Given the description of an element on the screen output the (x, y) to click on. 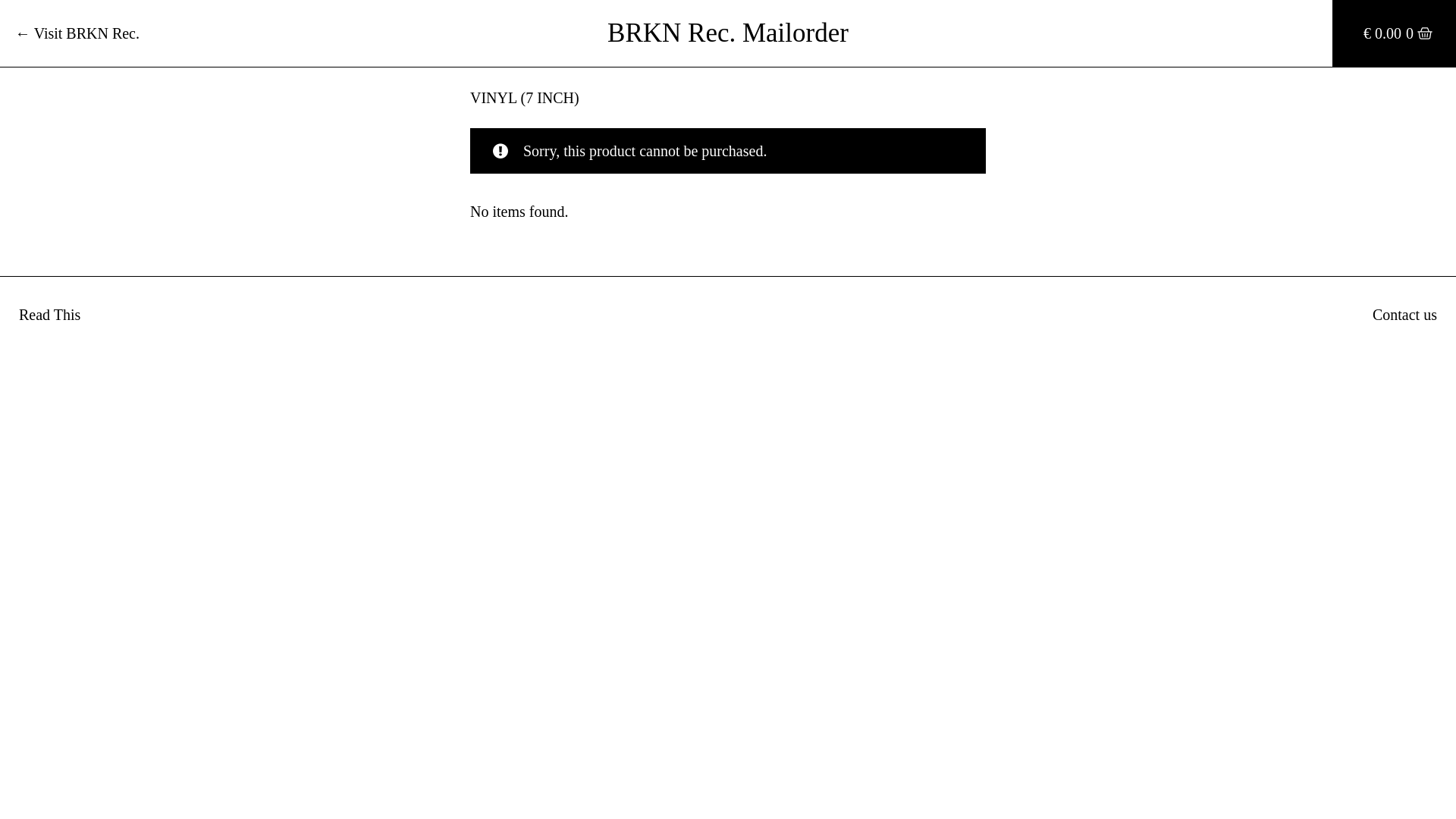
BRKN Rec. Mailorder Element type: text (727, 32)
Read This Element type: text (49, 314)
Contact us Element type: text (1404, 314)
